Given the description of an element on the screen output the (x, y) to click on. 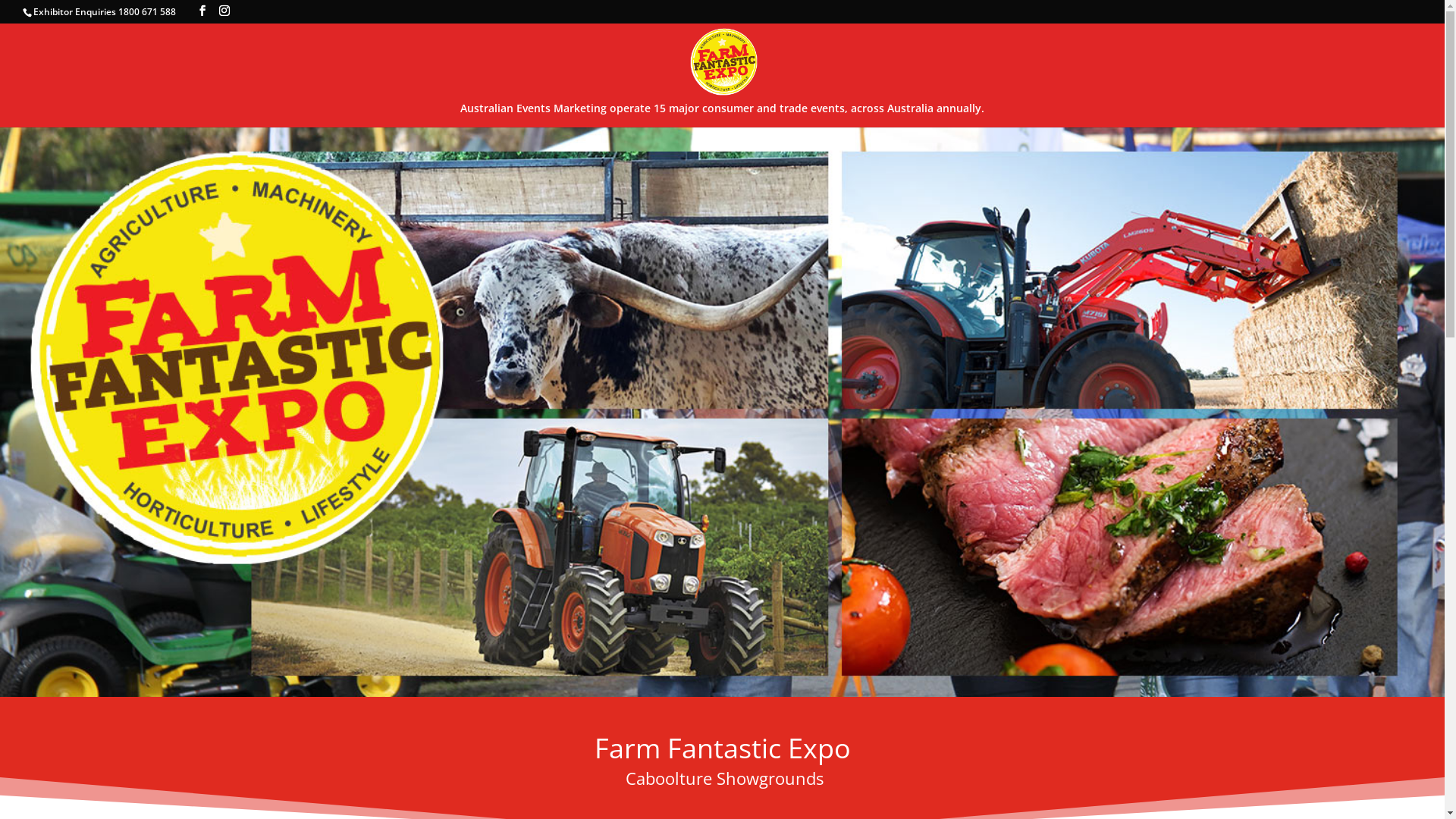
Farm-Fantasric-Slider-2023 Element type: hover (722, 411)
